Given the description of an element on the screen output the (x, y) to click on. 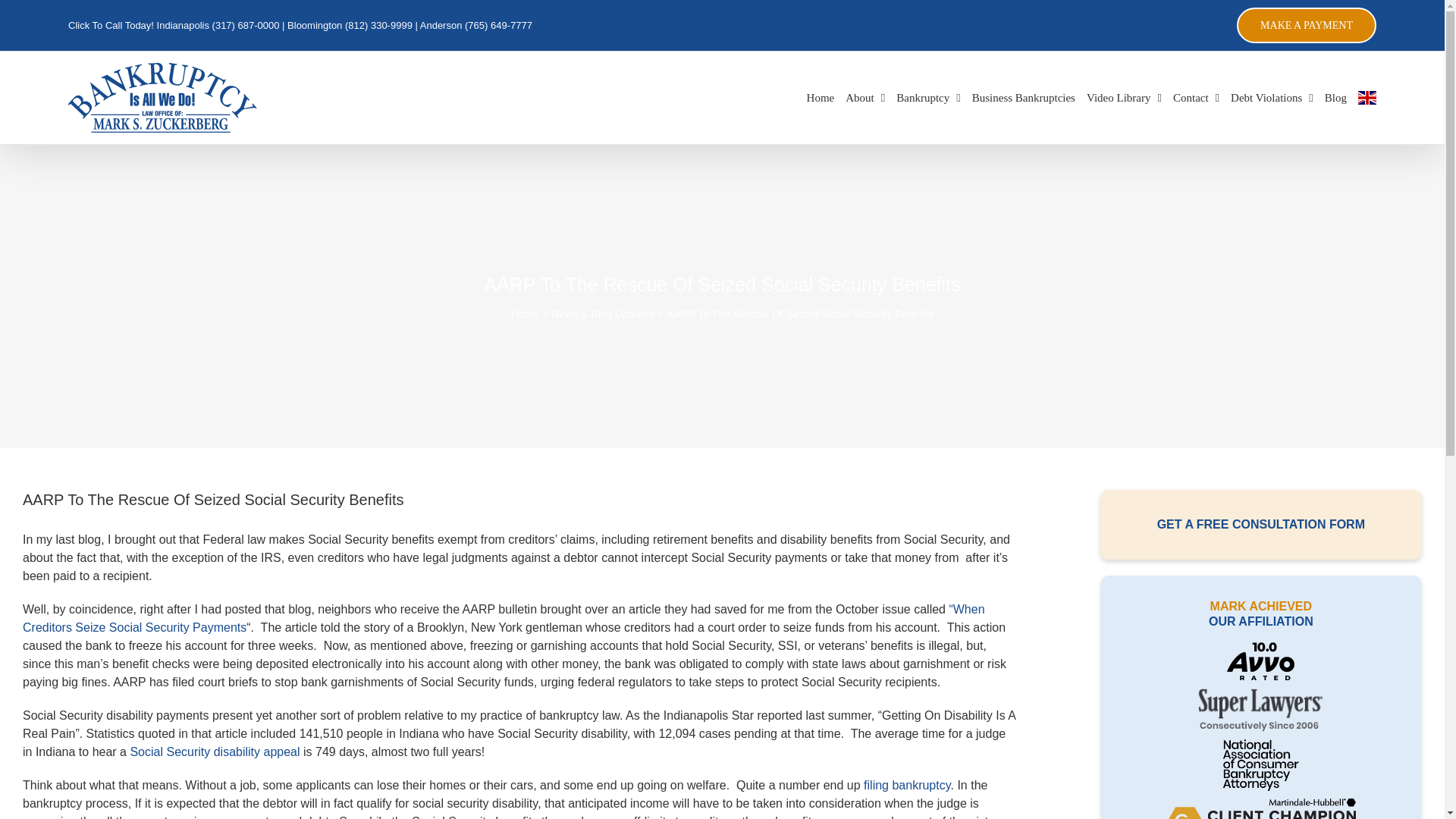
Accessibility Tools (19, 95)
Accessibility Tools (19, 95)
Debt Violations (1271, 97)
MAKE A PAYMENT (1305, 25)
Make a Payment (1305, 25)
Business Bankruptcies (1023, 97)
